Given the description of an element on the screen output the (x, y) to click on. 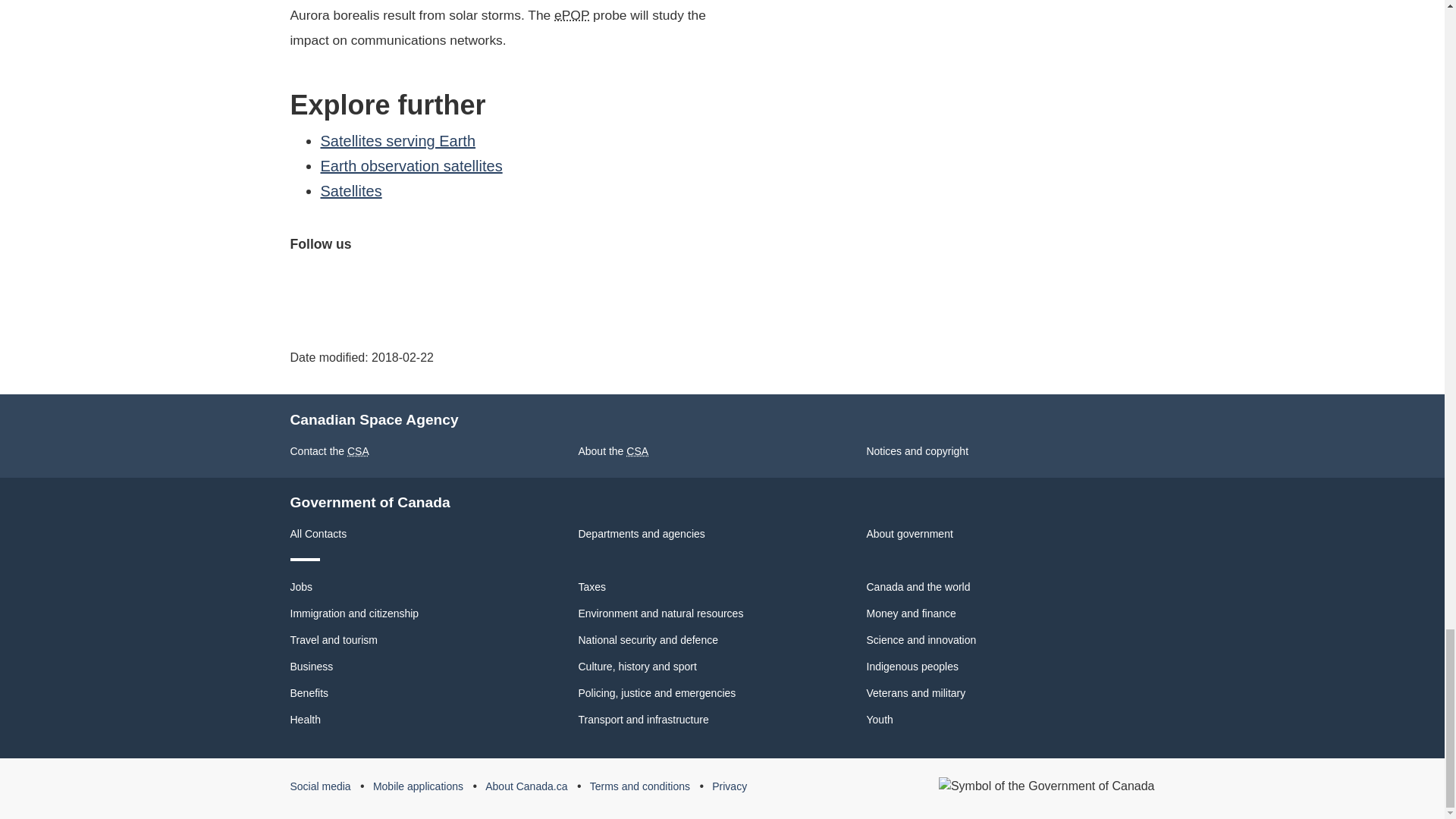
Facebook: CanadianSpaceAgency (303, 281)
Satellites (350, 190)
enhanced Polar Outflow Probe (571, 14)
Contact the CSA (328, 451)
Instagram: canadianspaceagency (410, 281)
Earth observation satellites (411, 166)
RSS (481, 281)
Linkedin: Canadian Space Agency (446, 281)
Satellites serving Earth (398, 140)
Youtube: Canadianspaceagency (375, 281)
